Given the description of an element on the screen output the (x, y) to click on. 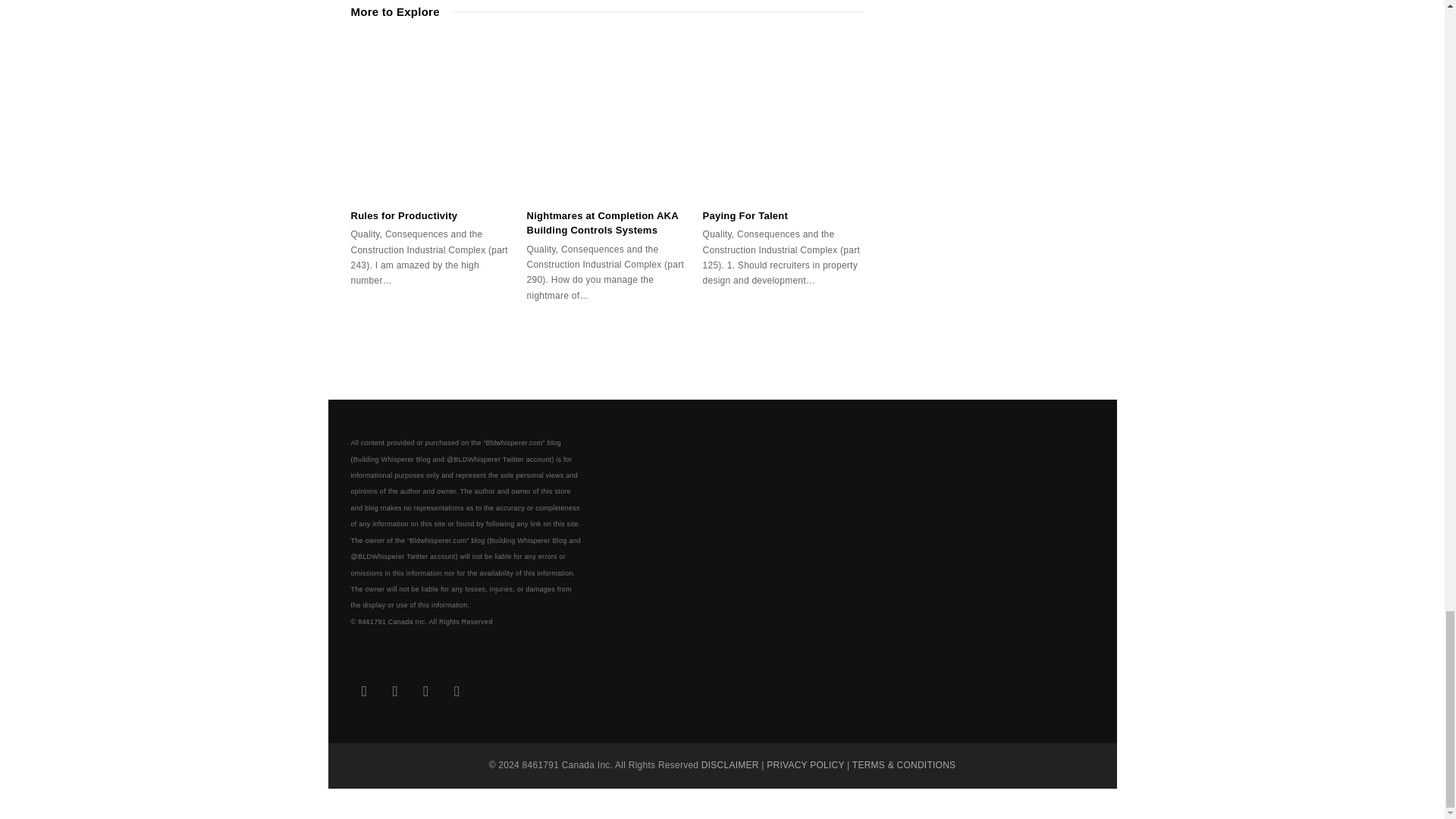
Twitter (363, 691)
LinkedIn (395, 691)
Nightmares at Completion AKA Building Controls Systems (607, 117)
Youtube (425, 691)
Paying For Talent (783, 117)
Rules for Productivity (430, 117)
RSS (457, 691)
